Given the description of an element on the screen output the (x, y) to click on. 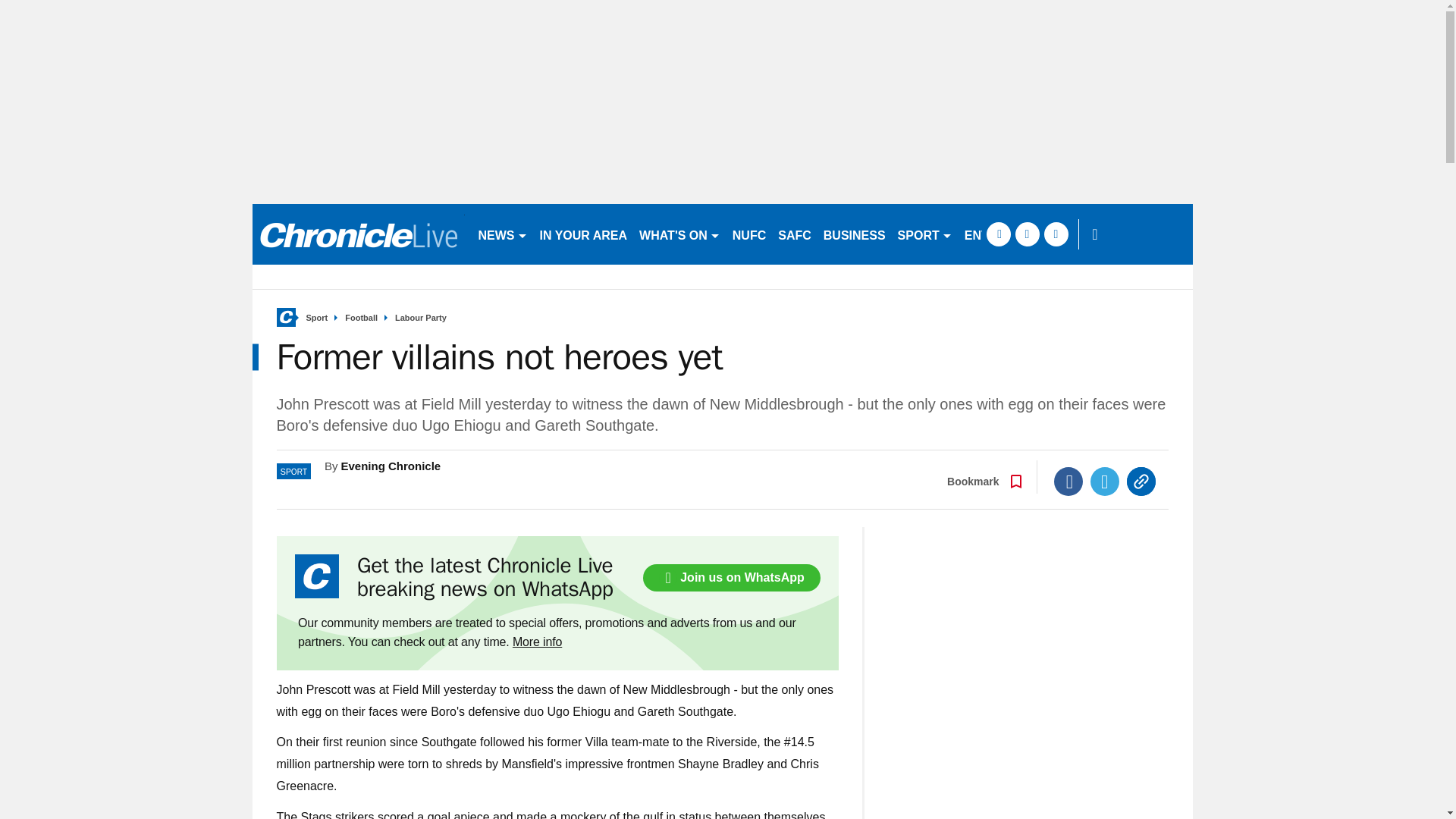
NEWS (501, 233)
instagram (1055, 233)
twitter (1026, 233)
BUSINESS (853, 233)
SPORT (924, 233)
IN YOUR AREA (583, 233)
Facebook (1068, 481)
nechronicle (357, 233)
facebook (997, 233)
Twitter (1104, 481)
WHAT'S ON (679, 233)
